Given the description of an element on the screen output the (x, y) to click on. 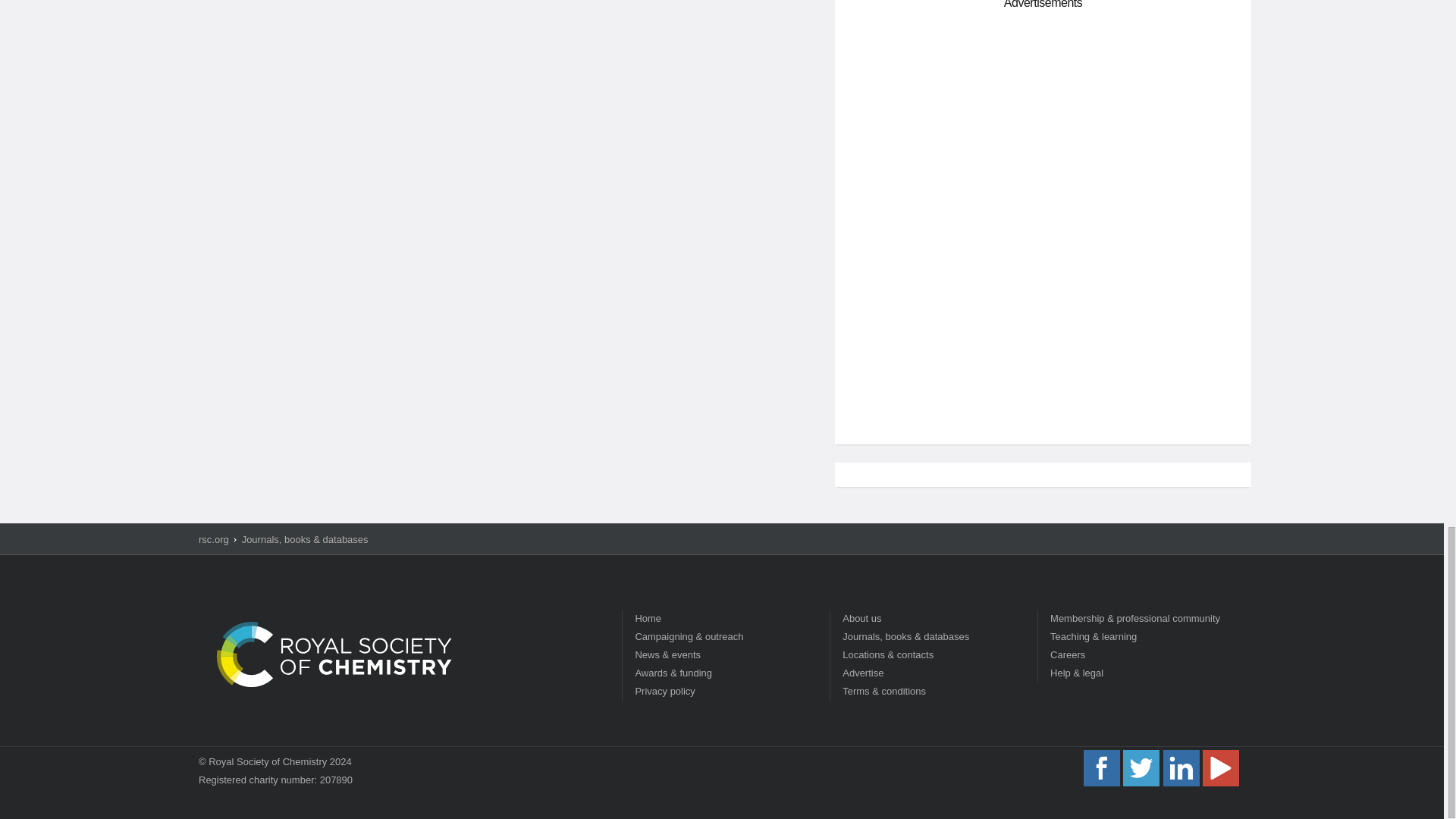
3rd party ad content (1043, 123)
3rd party ad content (1043, 325)
